Given the description of an element on the screen output the (x, y) to click on. 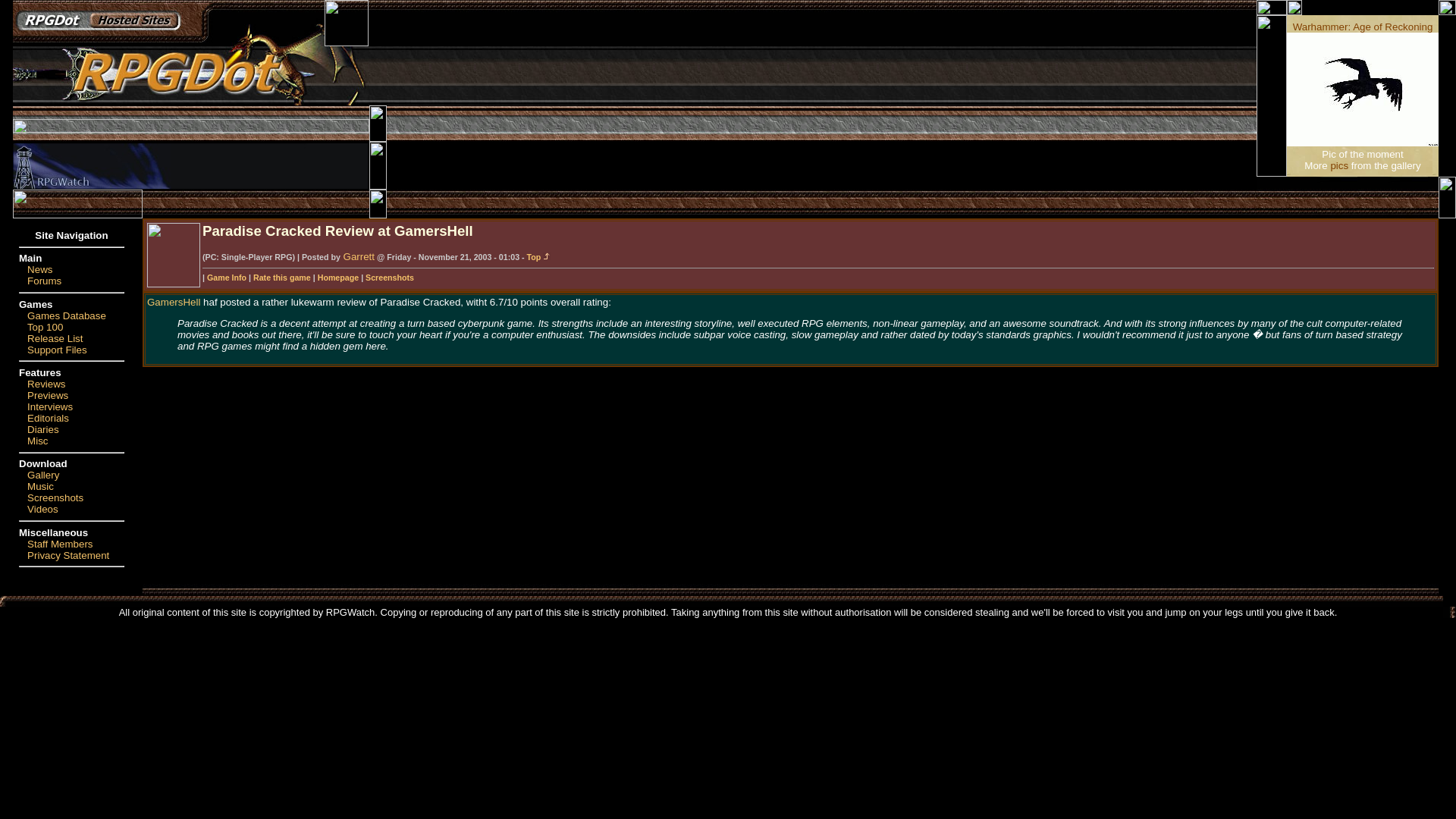
GamersHell (173, 301)
Top (539, 256)
Music (40, 486)
Top 100 (44, 326)
Screenshots (389, 276)
News (39, 269)
Reviews (46, 383)
Misc (37, 440)
Release List (54, 337)
Forums (44, 280)
